Given the description of an element on the screen output the (x, y) to click on. 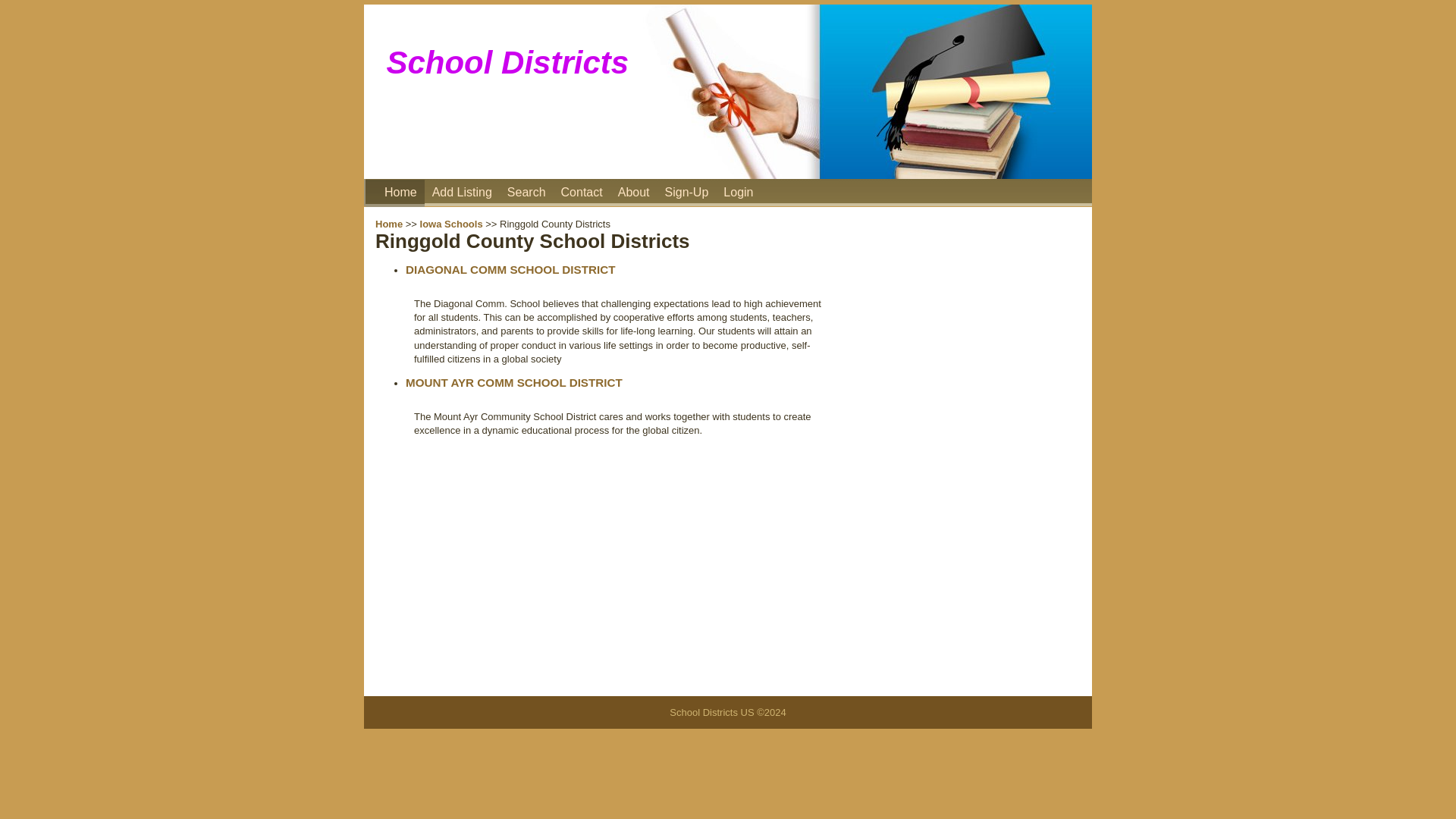
About (633, 192)
Home (400, 192)
Home (389, 224)
Search (526, 192)
Sign-Up (687, 192)
Login (737, 192)
Iowa Schools (451, 224)
Contact (581, 192)
Add Listing (462, 192)
MOUNT AYR COMM SCHOOL DISTRICT (514, 382)
New Member Signup (687, 192)
DIAGONAL COMM SCHOOL DISTRICT (510, 269)
About School Districts (633, 192)
School Districts (400, 192)
Add Listing (462, 192)
